Given the description of an element on the screen output the (x, y) to click on. 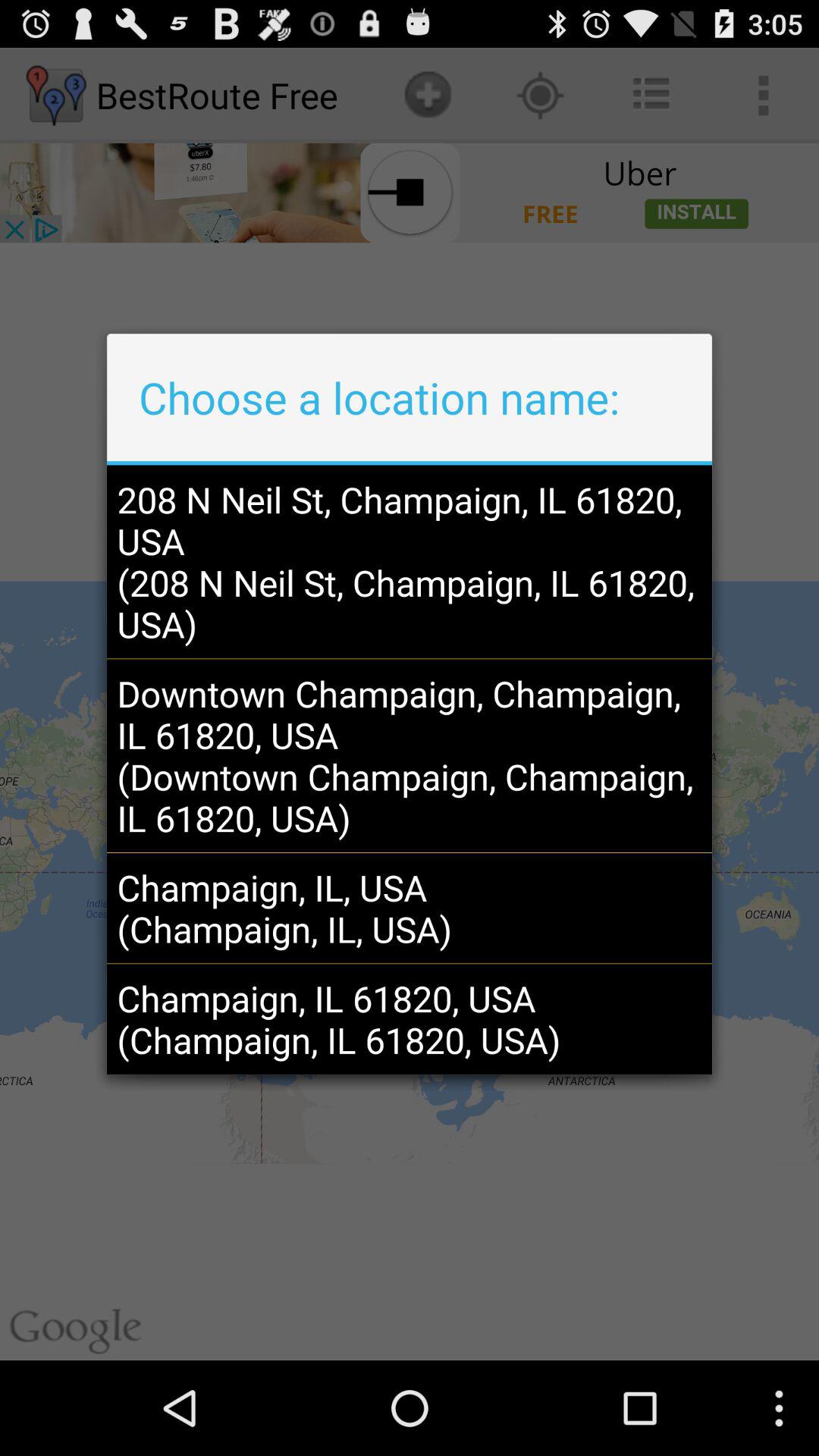
select the 208 n neil (409, 561)
